Given the description of an element on the screen output the (x, y) to click on. 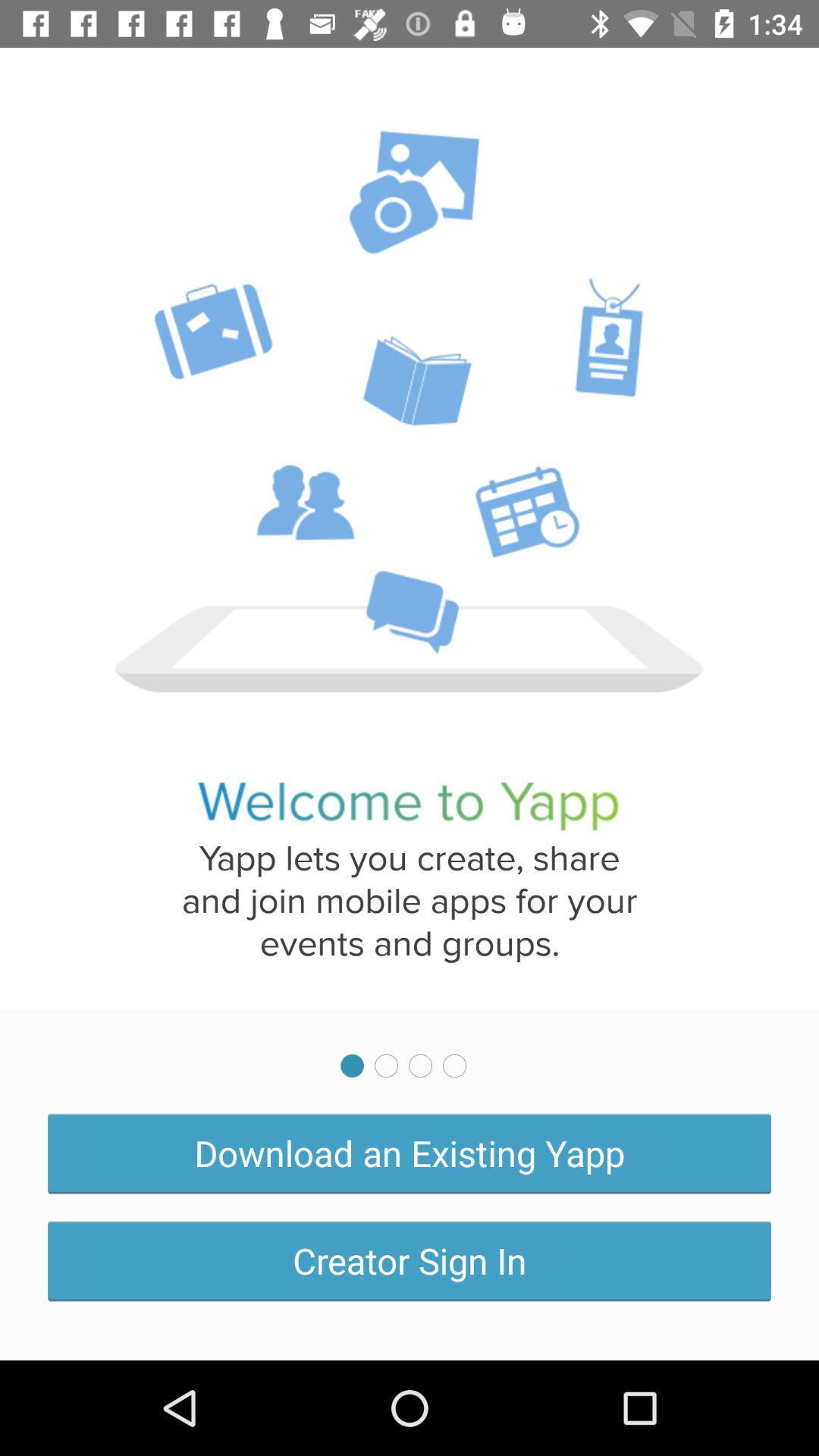
tap the creator sign in button (409, 1260)
